Given the description of an element on the screen output the (x, y) to click on. 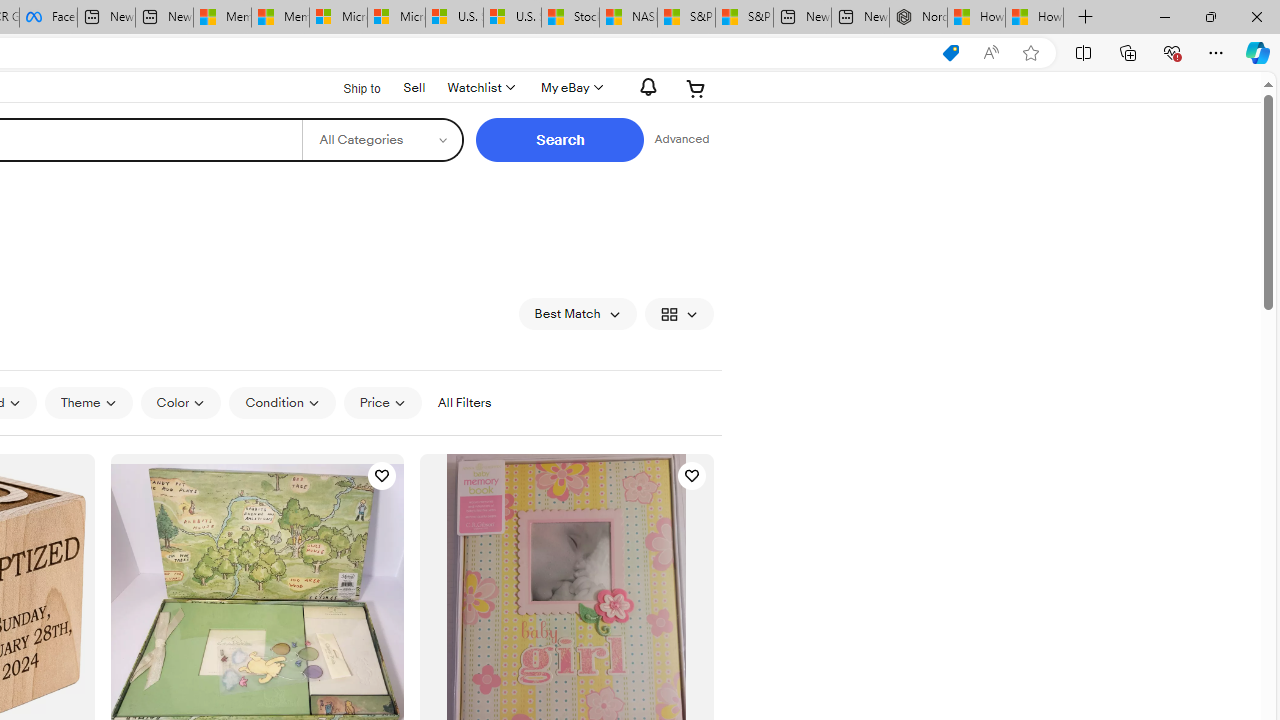
All Filters (464, 402)
Browser essentials (1171, 52)
All Filters (464, 403)
Watchlist (479, 88)
Theme (88, 402)
Search (560, 140)
Color (180, 403)
Your shopping cart (696, 88)
Collections (1128, 52)
Sell (413, 86)
S&P 500, Nasdaq end lower, weighed by Nvidia dip | Watch (744, 17)
Notifications (642, 87)
